Given the description of an element on the screen output the (x, y) to click on. 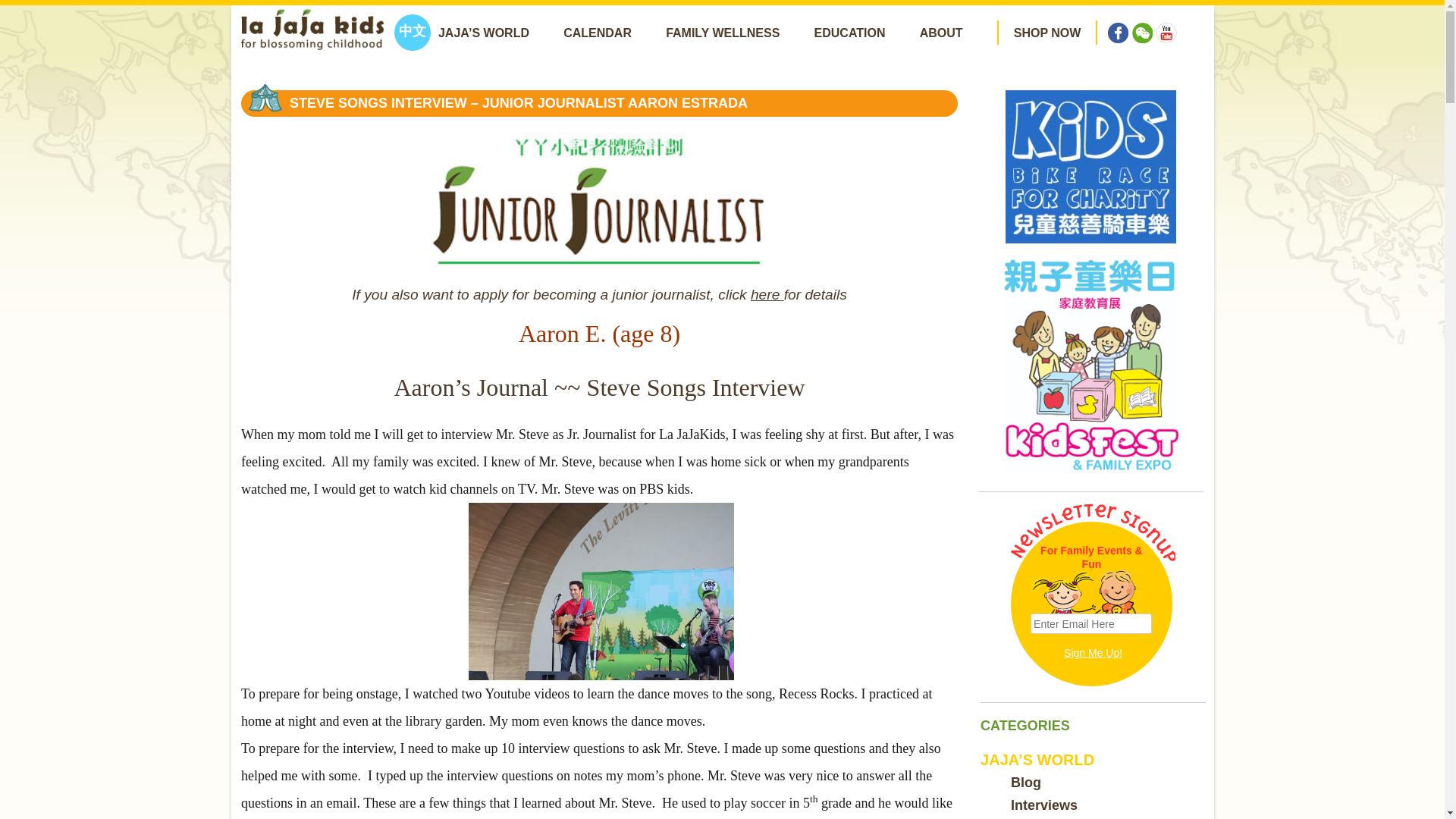
Kids Bike Race for Charity (1091, 166)
facebook (1118, 22)
CALENDAR (597, 32)
EDUCATION (849, 32)
SHOP NOW (1047, 32)
ABOUT (941, 32)
Blog (1025, 782)
Watermelon Festival (1091, 364)
Sign Me Up! (1093, 653)
Interviews (1043, 805)
FAMILY WELLNESS (721, 32)
here  (767, 295)
